Given the description of an element on the screen output the (x, y) to click on. 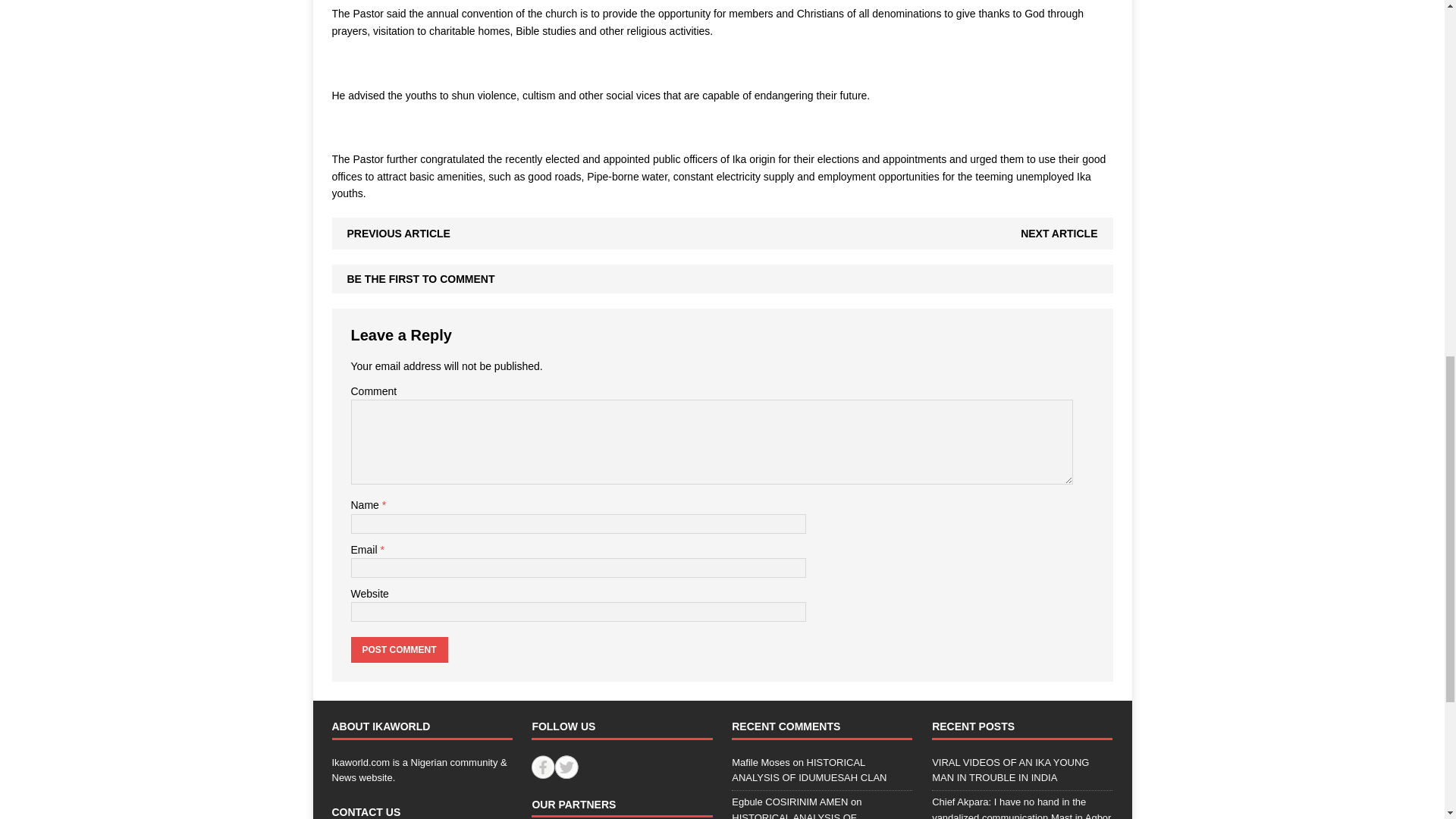
Post Comment (398, 649)
Post Comment (398, 649)
HISTORICAL ANALYSIS OF IDUMUESAH CLAN (809, 769)
PREVIOUS ARTICLE (398, 233)
HISTORICAL ANALYSIS OF IDUMUESAH CLAN (794, 815)
NEXT ARTICLE (1058, 233)
